Given the description of an element on the screen output the (x, y) to click on. 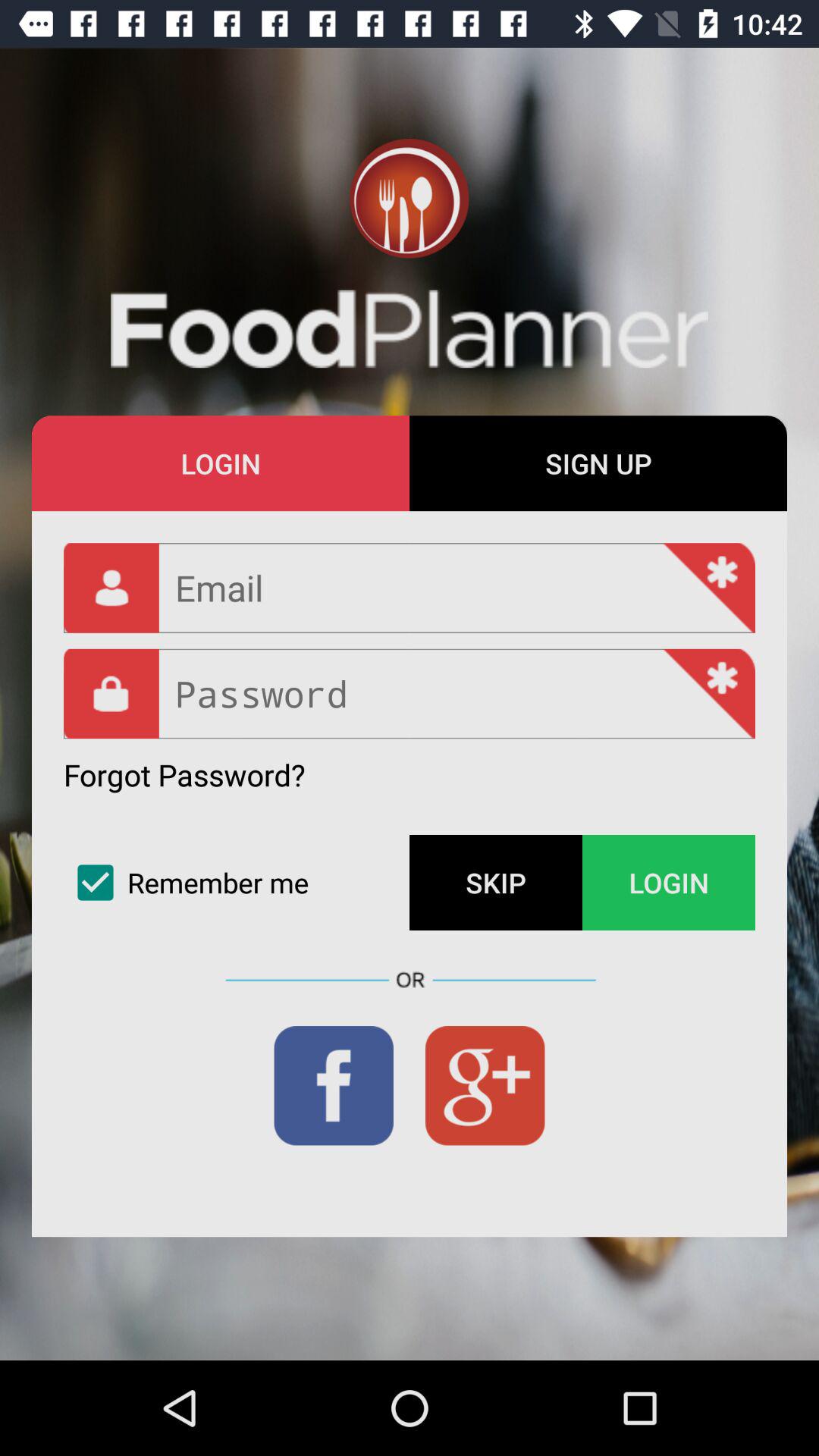
turn off the item next to login (598, 463)
